Given the description of an element on the screen output the (x, y) to click on. 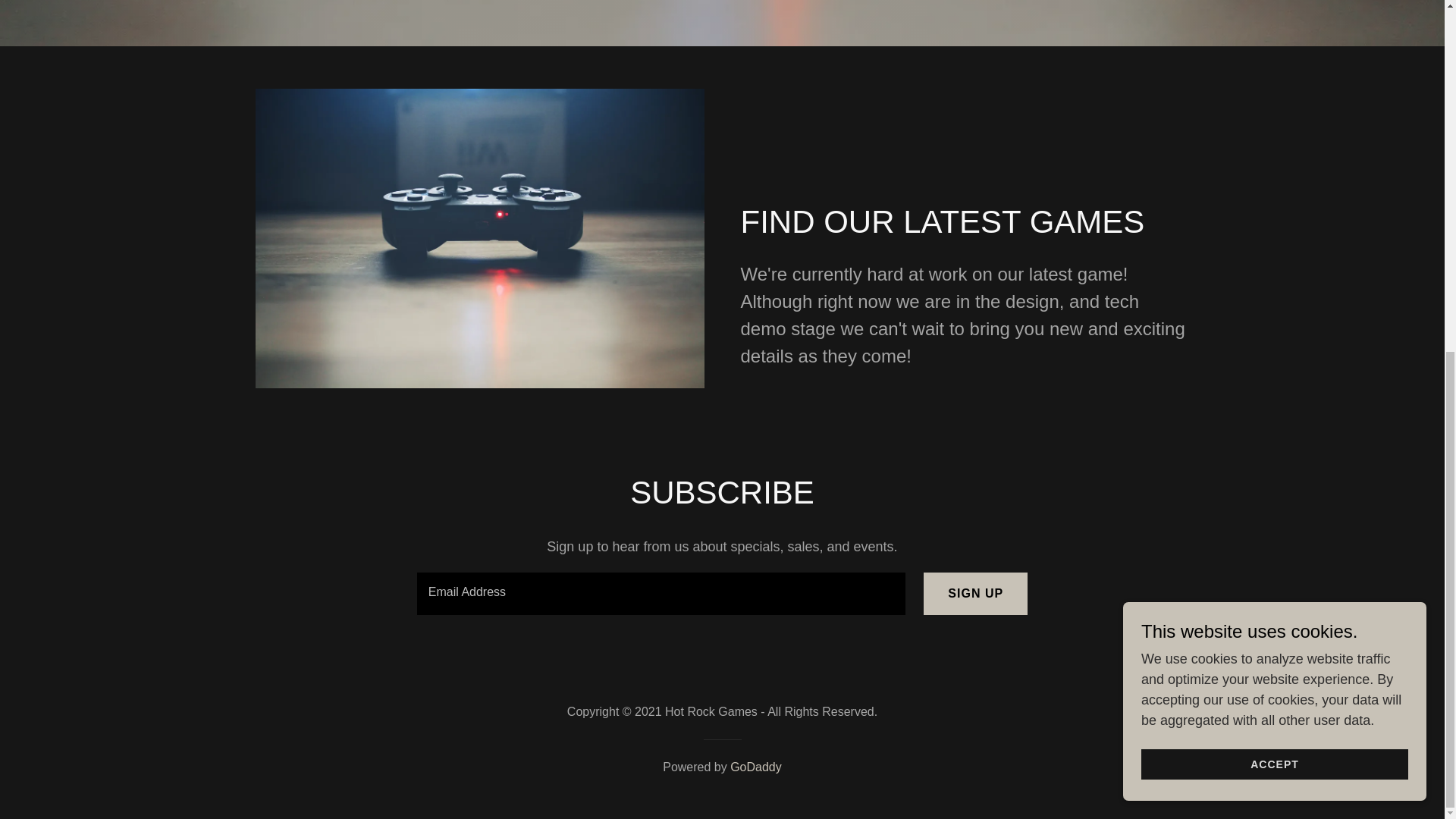
GoDaddy (755, 766)
SIGN UP (975, 593)
ACCEPT (1274, 153)
